Given the description of an element on the screen output the (x, y) to click on. 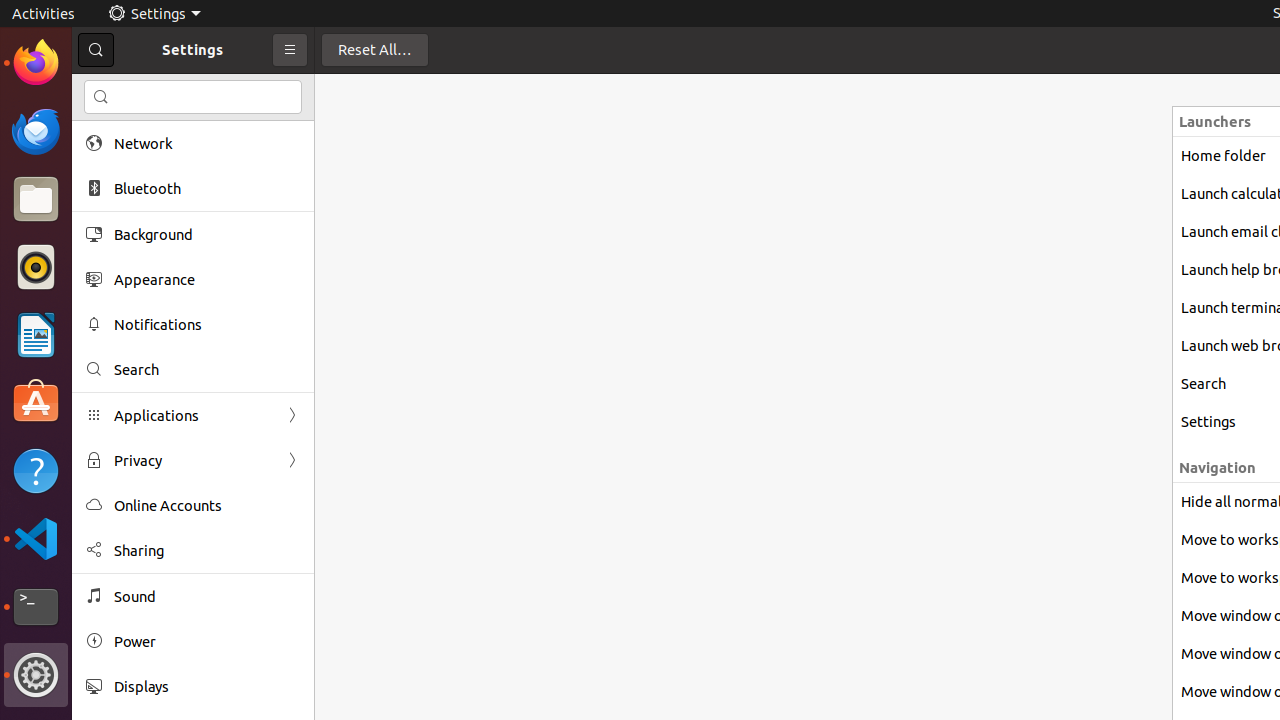
Settings Element type: push-button (36, 675)
Trash Element type: label (133, 191)
IsaHelpMain.desktop Element type: label (133, 300)
Settings Element type: menu (154, 13)
Primary Menu Element type: toggle-button (290, 50)
